Given the description of an element on the screen output the (x, y) to click on. 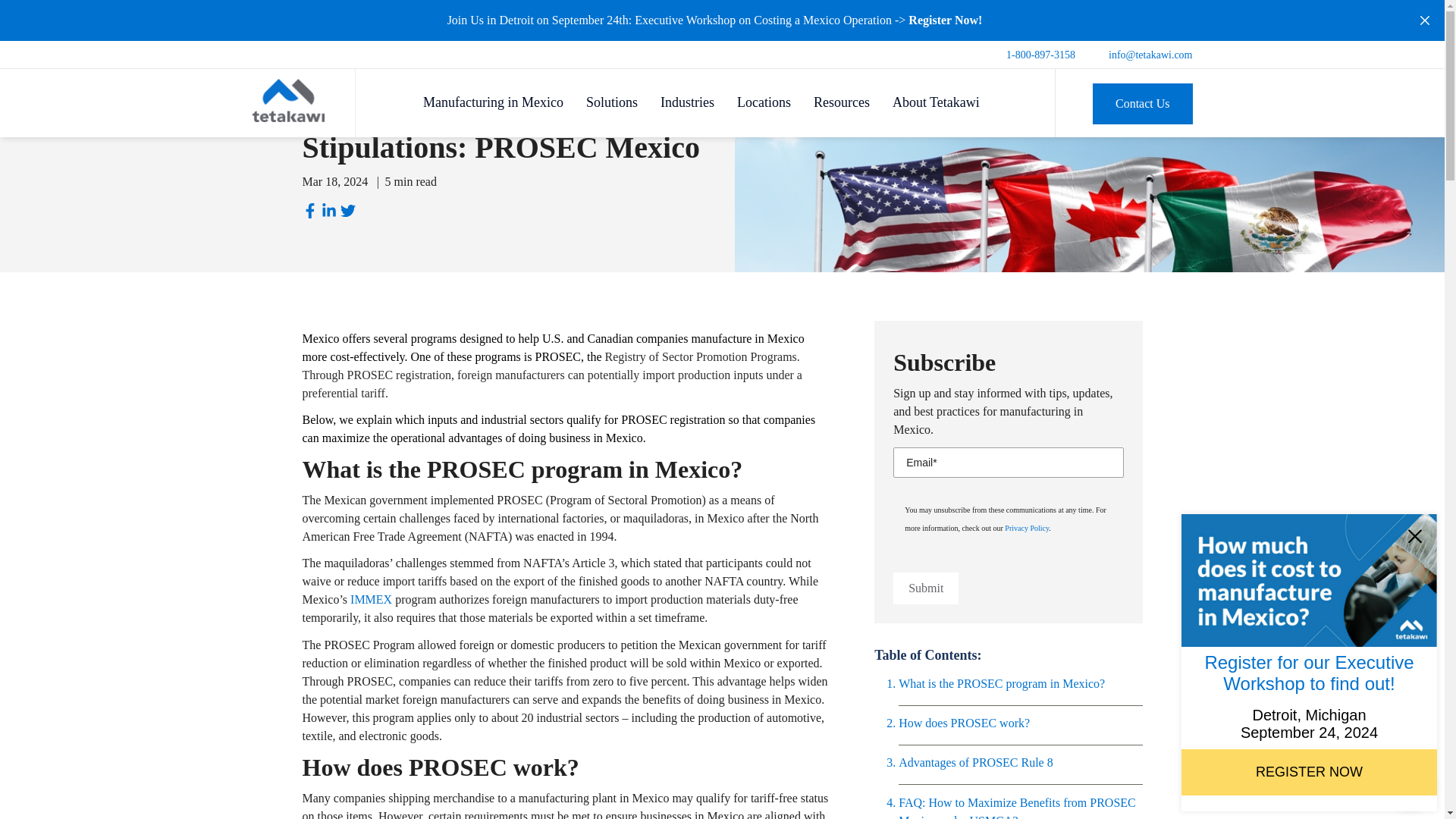
Submit (925, 588)
Tetakawi Logo (287, 100)
Locations (766, 99)
Share via LinkedIn (330, 213)
1-800-897-3158 (1040, 54)
Share via Twitter (348, 213)
Manufacturing in Mexico (496, 99)
Share via Facebook (310, 213)
Solutions (615, 99)
Industries (691, 99)
